Given the description of an element on the screen output the (x, y) to click on. 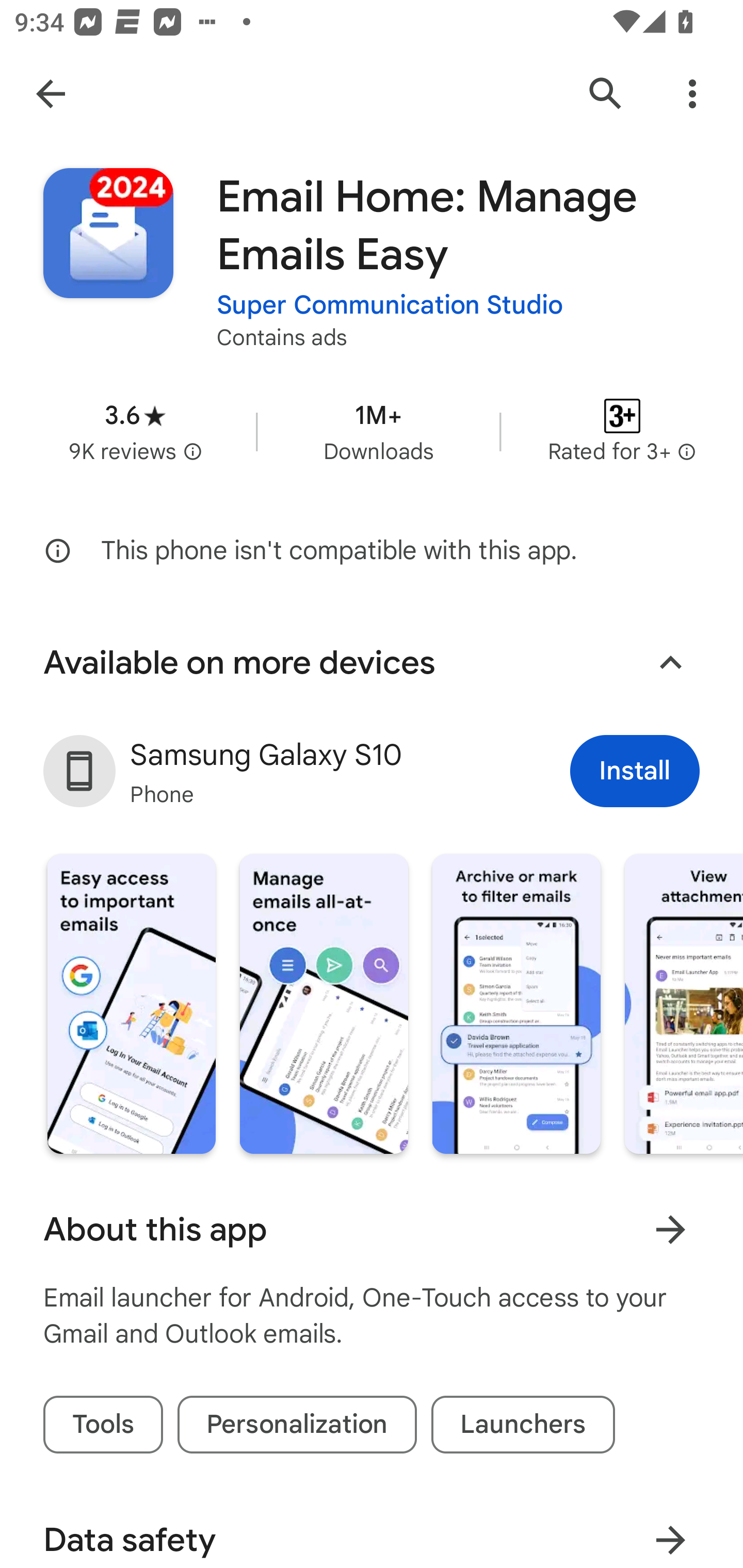
Navigate up (50, 93)
Search Google Play (605, 93)
More Options (692, 93)
Super Communication Studio (389, 304)
Average rating 3.6 stars in 9 thousand reviews (135, 431)
Content rating Rated for 3+ (622, 431)
Available on more devices Collapse (371, 662)
Collapse (670, 662)
Install (634, 770)
Screenshot "1" of "6" (130, 1004)
Screenshot "2" of "6" (323, 1004)
Screenshot "3" of "6" (515, 1004)
Screenshot "4" of "6" (683, 1004)
About this app Learn more About this app (371, 1229)
Learn more About this app (670, 1229)
Tools tag (102, 1424)
Personalization tag (296, 1424)
Launchers tag (523, 1424)
Data safety Learn more about data safety (371, 1528)
Learn more about data safety (670, 1532)
